Given the description of an element on the screen output the (x, y) to click on. 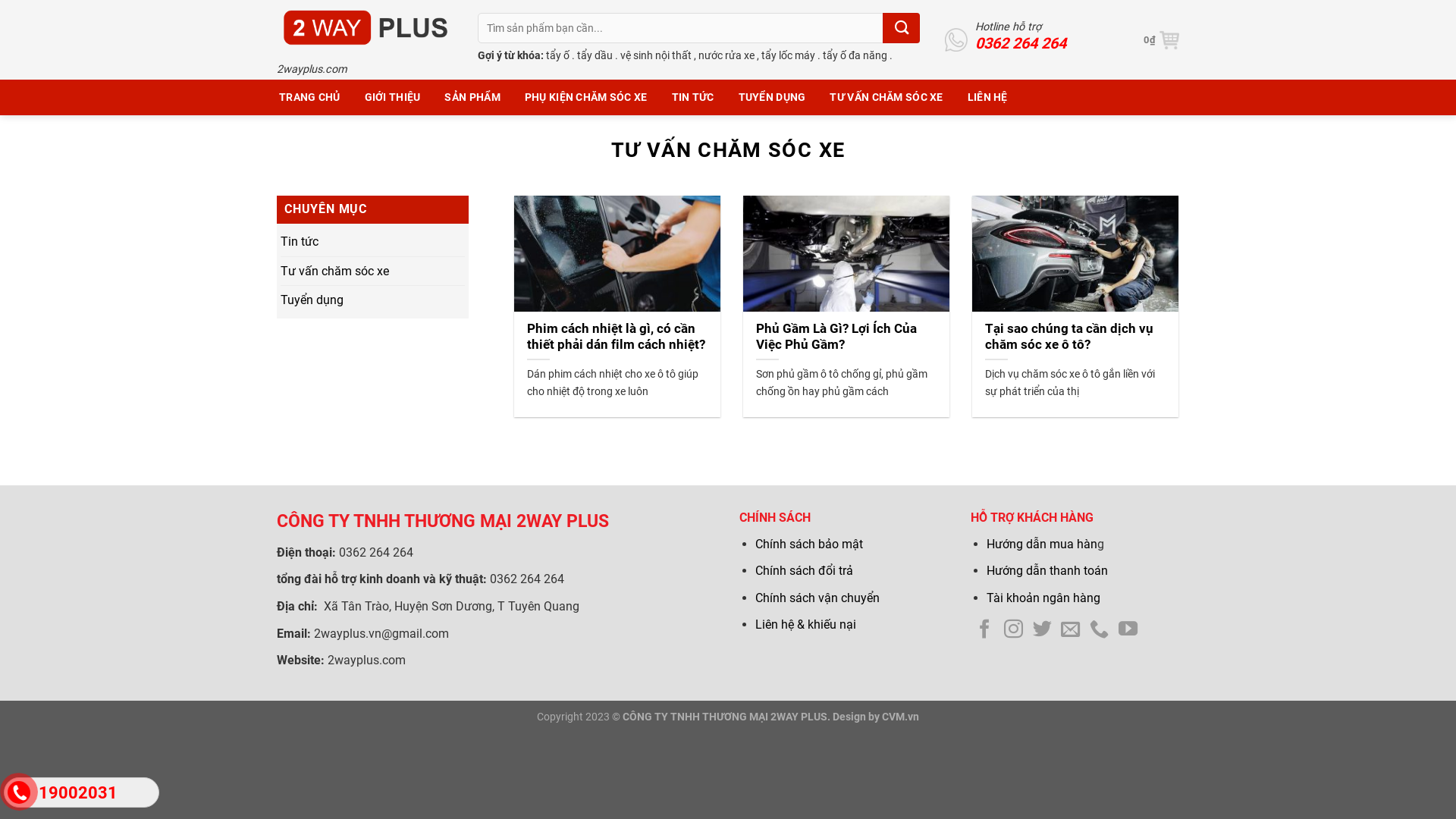
19002031 Element type: text (81, 792)
